Given the description of an element on the screen output the (x, y) to click on. 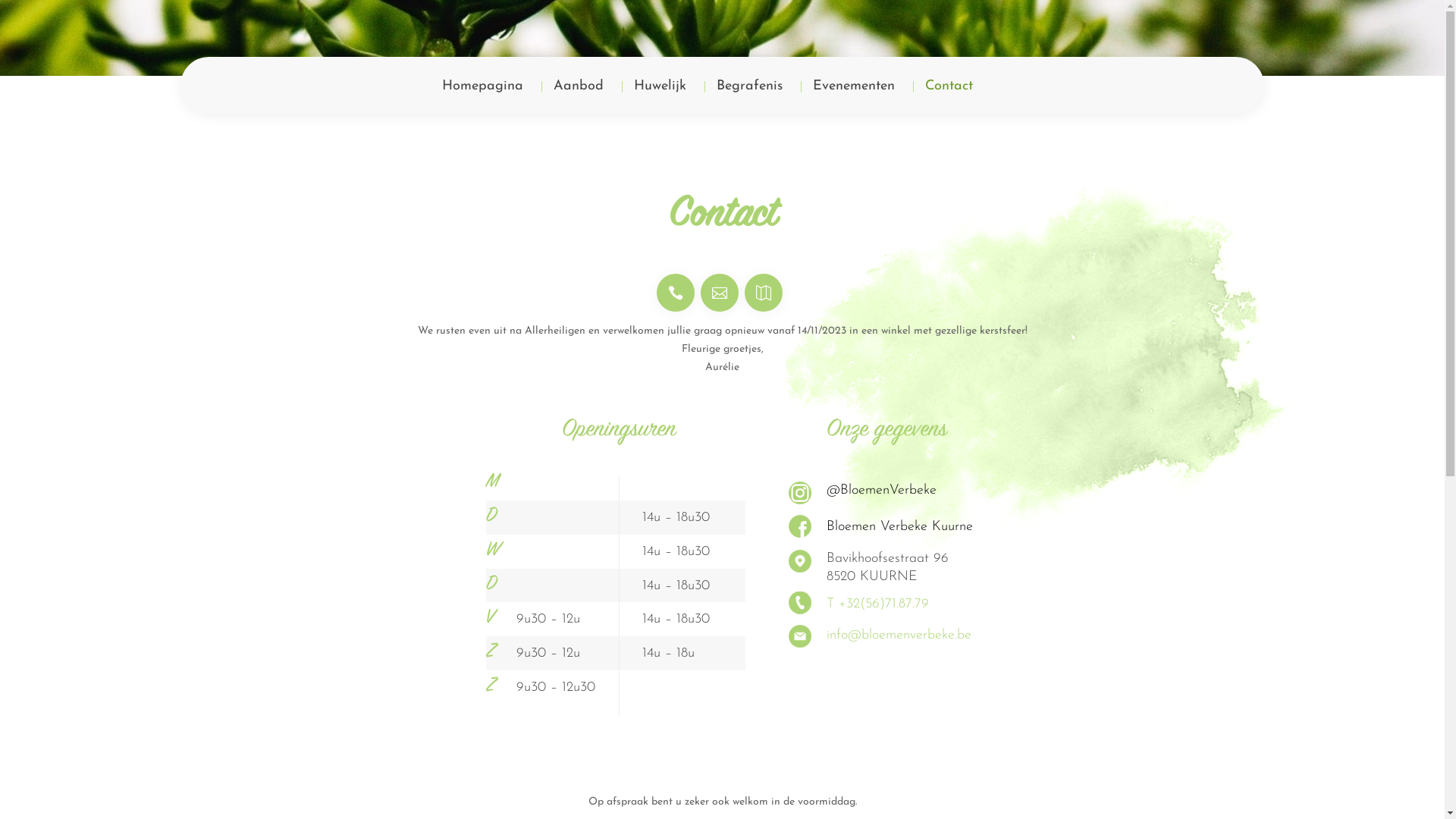
Contact Element type: text (948, 97)
info@bloemenverbeke.be Element type: text (898, 634)
Homepagina Element type: text (481, 97)
Bloemen Verbeke Kuurne Element type: text (918, 526)
T +32(56)71.87.79 Element type: text (877, 603)
Huwelijk Element type: text (659, 97)
Aanbod Element type: text (578, 97)
Begrafenis Element type: text (748, 97)
@BloemenVerbeke Element type: text (918, 490)
Evenementen Element type: text (853, 97)
